Given the description of an element on the screen output the (x, y) to click on. 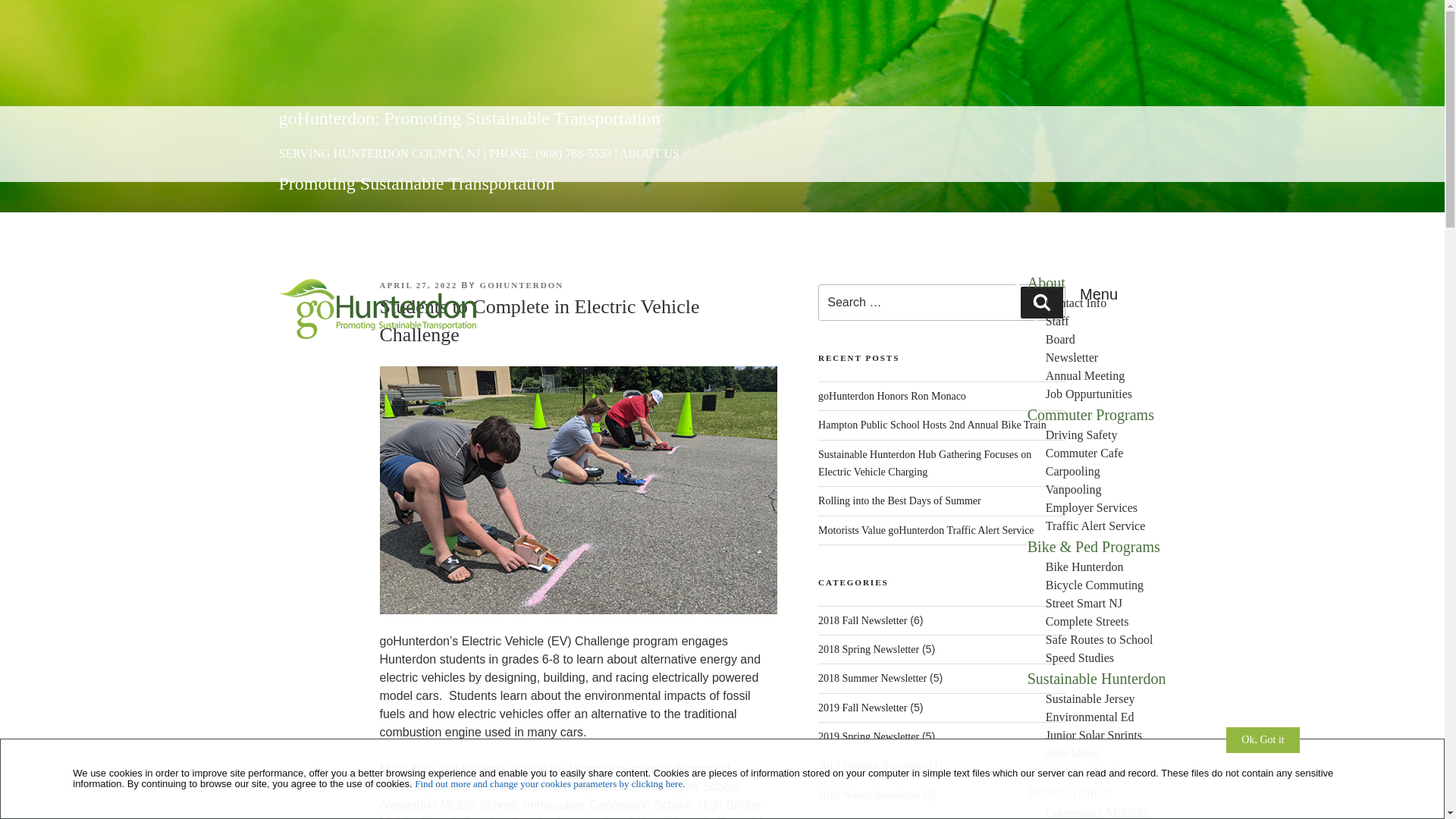
Employer Services (1091, 507)
Speed Studies (1079, 657)
About (1046, 282)
Bike Hunterdon (1084, 566)
Vanpooling (1073, 489)
Carpooling (1072, 471)
Commuter Cafe (1084, 452)
Driving Safety (1081, 434)
ABOUT US (649, 153)
Newsletter (1071, 357)
